Given the description of an element on the screen output the (x, y) to click on. 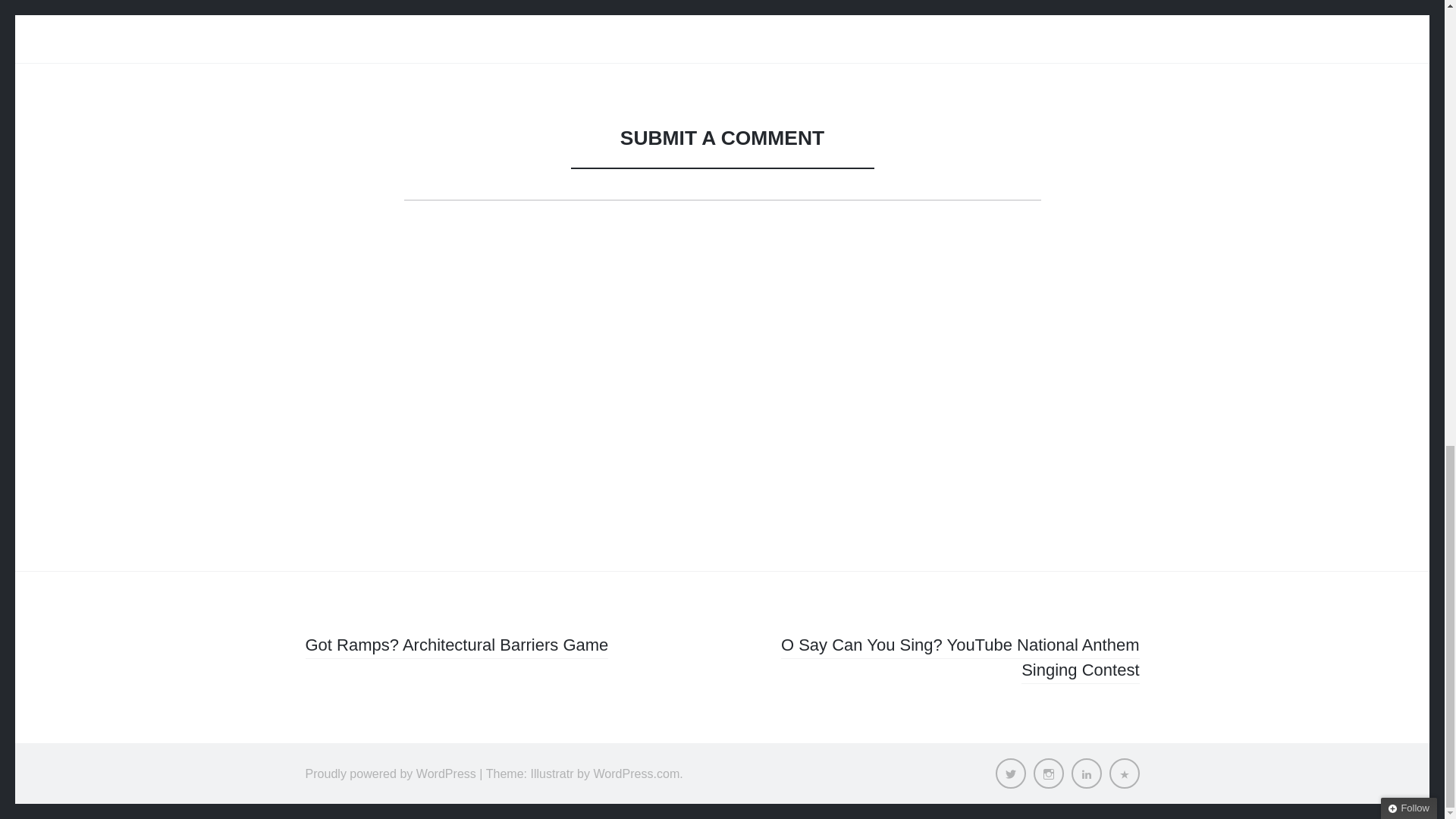
O Say Can You Sing? YouTube National Anthem Singing Contest (960, 659)
Got Ramps? Architectural Barriers Game (456, 647)
Contact (1123, 773)
Sign me up! (1338, 4)
Twitter (1009, 773)
WordPress.com (635, 773)
Proudly powered by WordPress (390, 773)
Sign me up! (1338, 4)
LinkedIn (1085, 773)
